Given the description of an element on the screen output the (x, y) to click on. 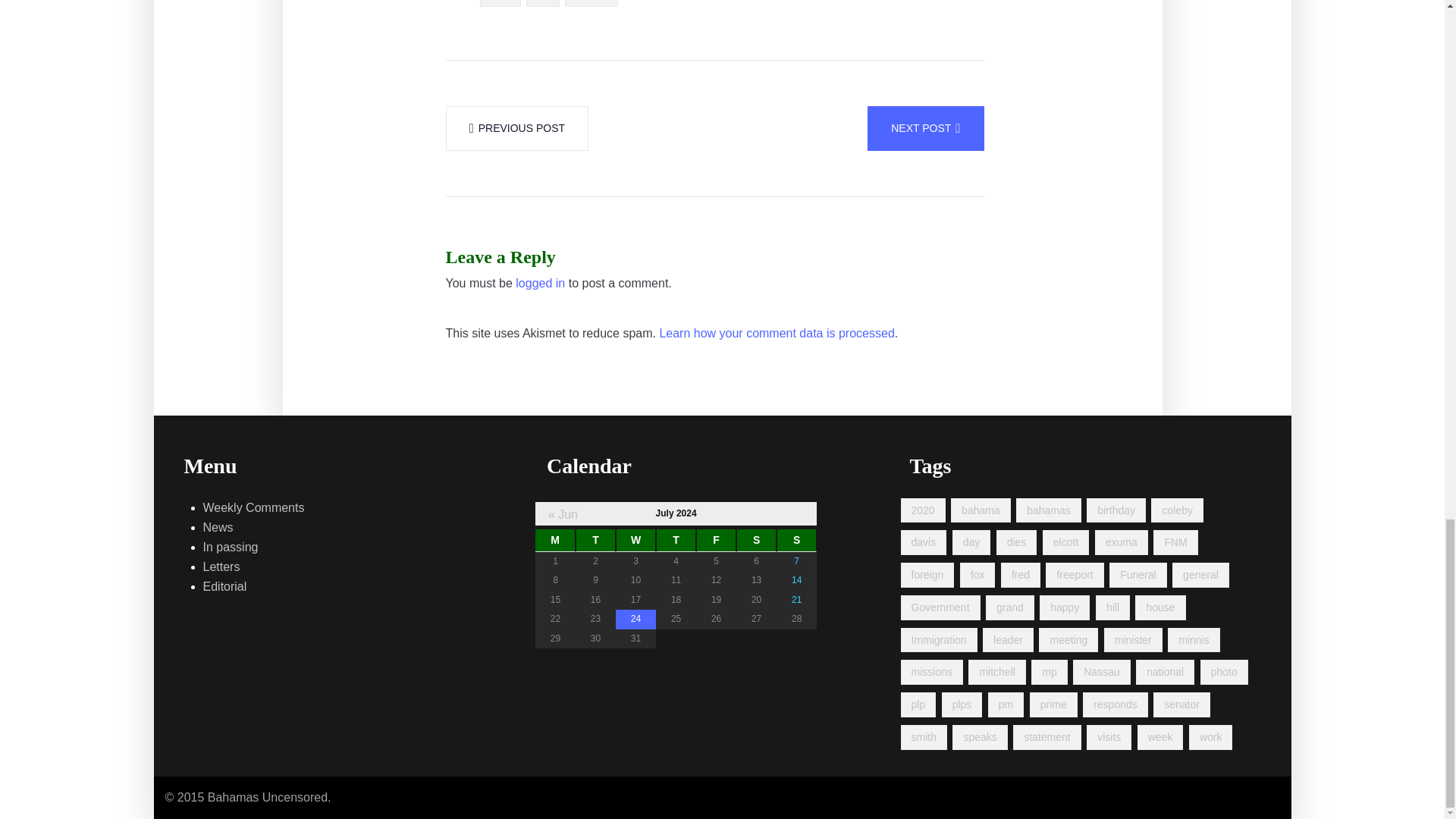
moxey (590, 3)
Learn how your comment data is processed (776, 333)
ed (542, 3)
News (217, 527)
Saturday (756, 540)
NEXT POST (925, 128)
PREVIOUS POST (517, 128)
Thursday (675, 540)
dies (500, 3)
Weekly Comments (253, 507)
In passing (231, 547)
Letters (221, 567)
Tuesday (595, 540)
Monday (555, 540)
Friday (715, 540)
